Given the description of an element on the screen output the (x, y) to click on. 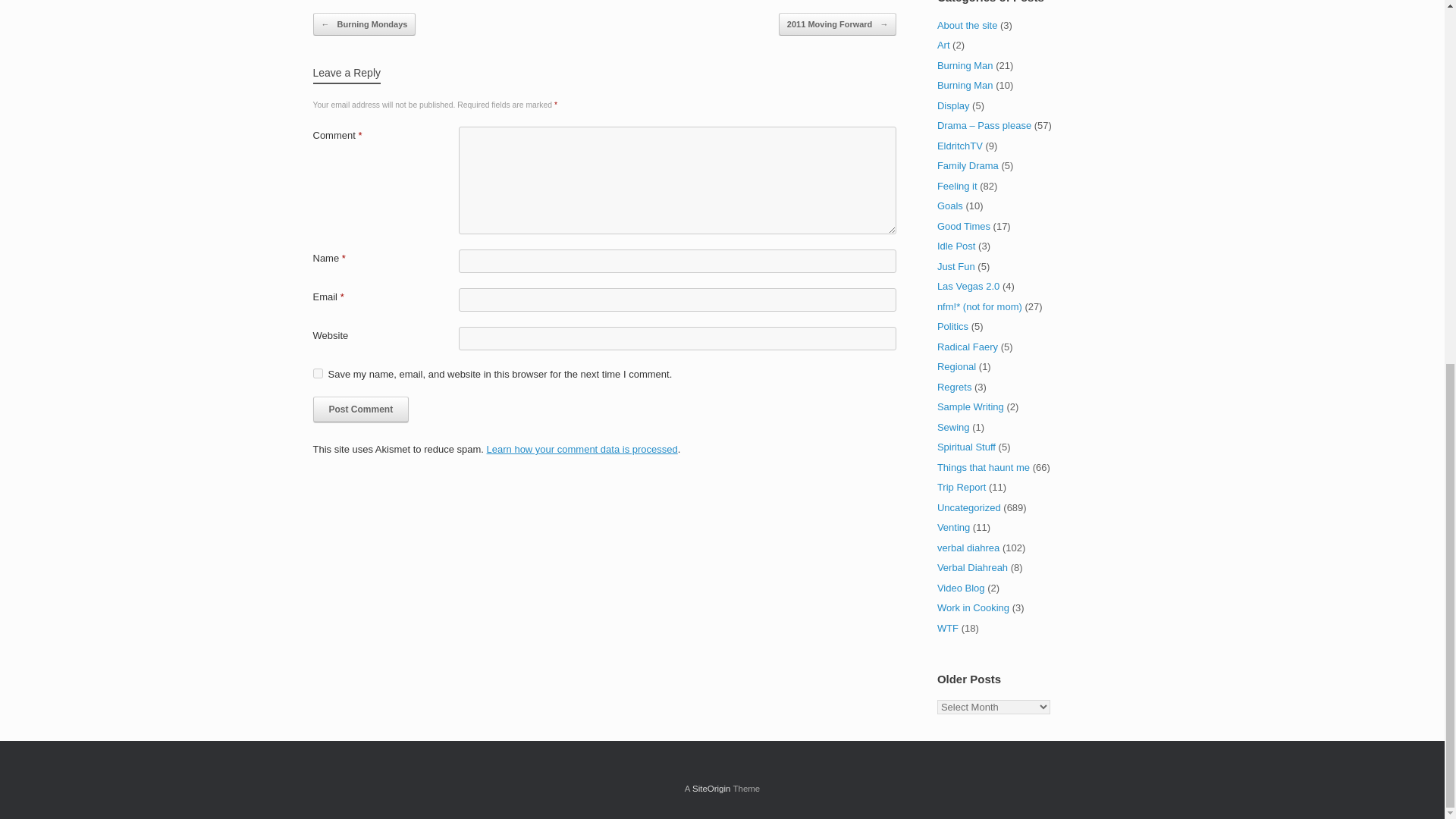
yes (317, 373)
Learn how your comment data is processed (582, 449)
Post Comment (361, 409)
Post Comment (361, 409)
